Given the description of an element on the screen output the (x, y) to click on. 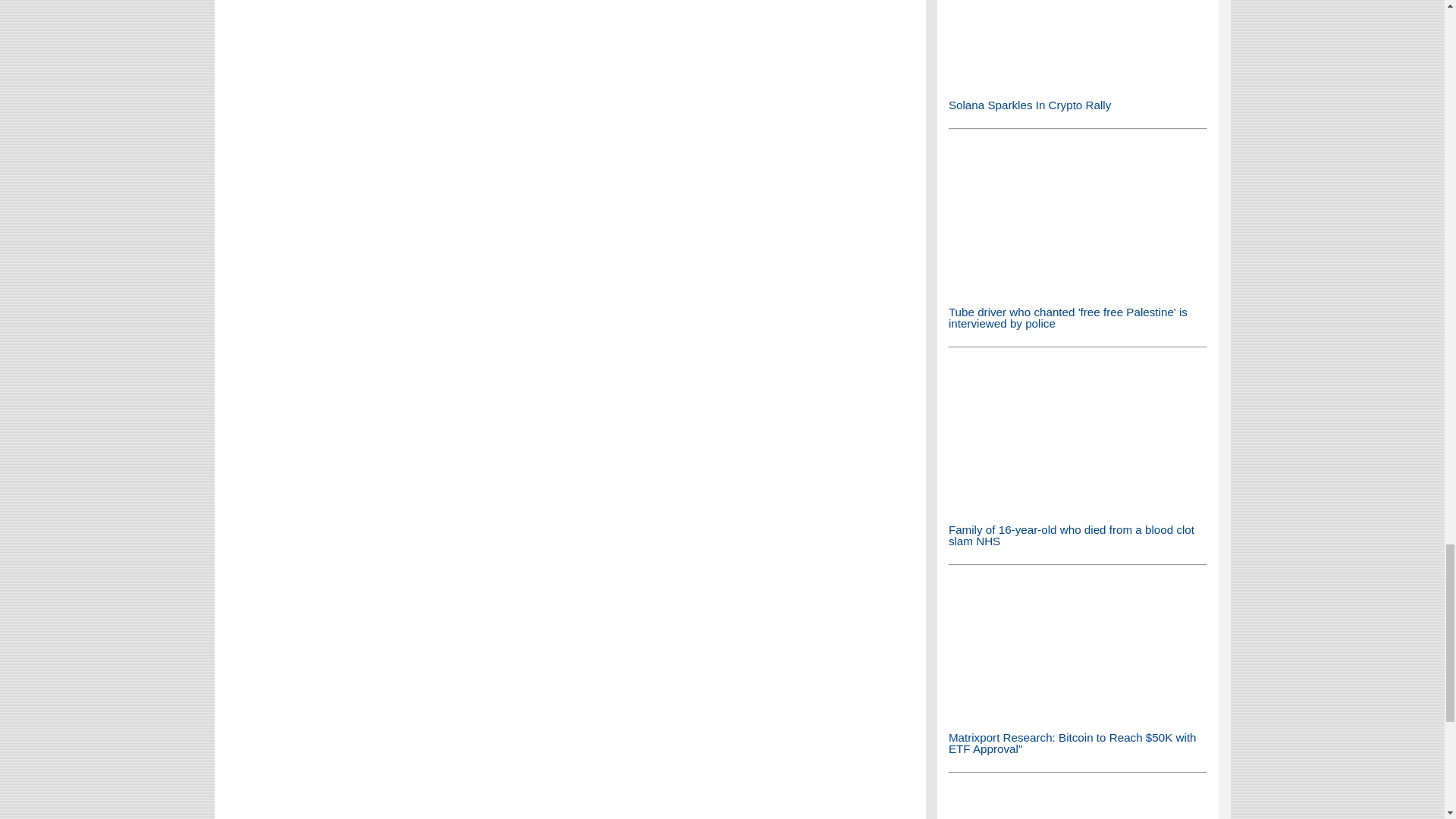
Solana Sparkles In Crypto Rally (1078, 43)
Solana Sparkles In Crypto Rally (1078, 82)
